Given the description of an element on the screen output the (x, y) to click on. 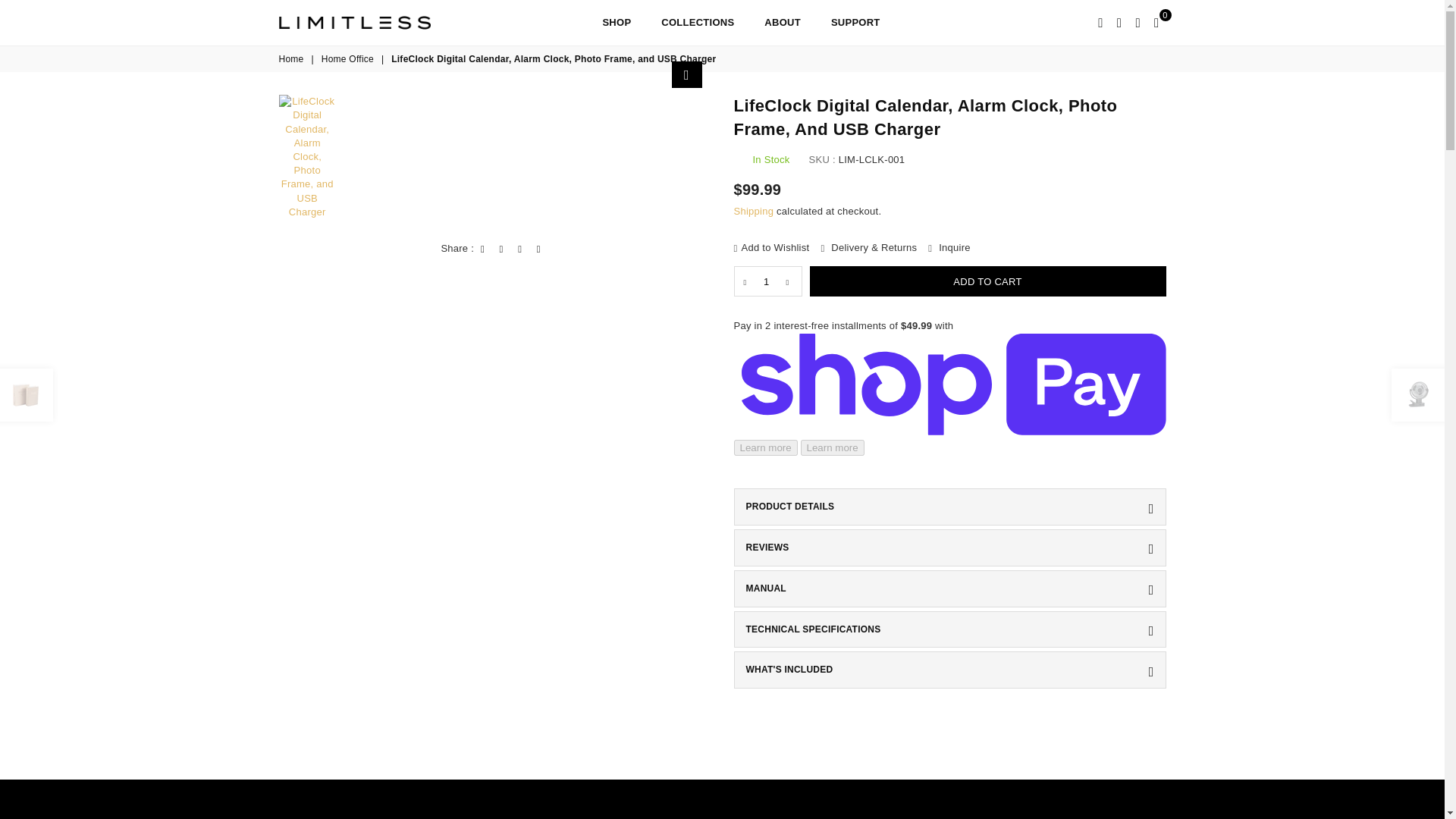
Share by Email (538, 248)
Previous Product (26, 394)
SHOP (616, 22)
Tweet on Twitter (502, 248)
Pin on Pinterest (519, 248)
Limitless Innovations (365, 22)
Share on Facebook (483, 248)
Back to the home page (292, 59)
Quantity (767, 281)
